Given the description of an element on the screen output the (x, y) to click on. 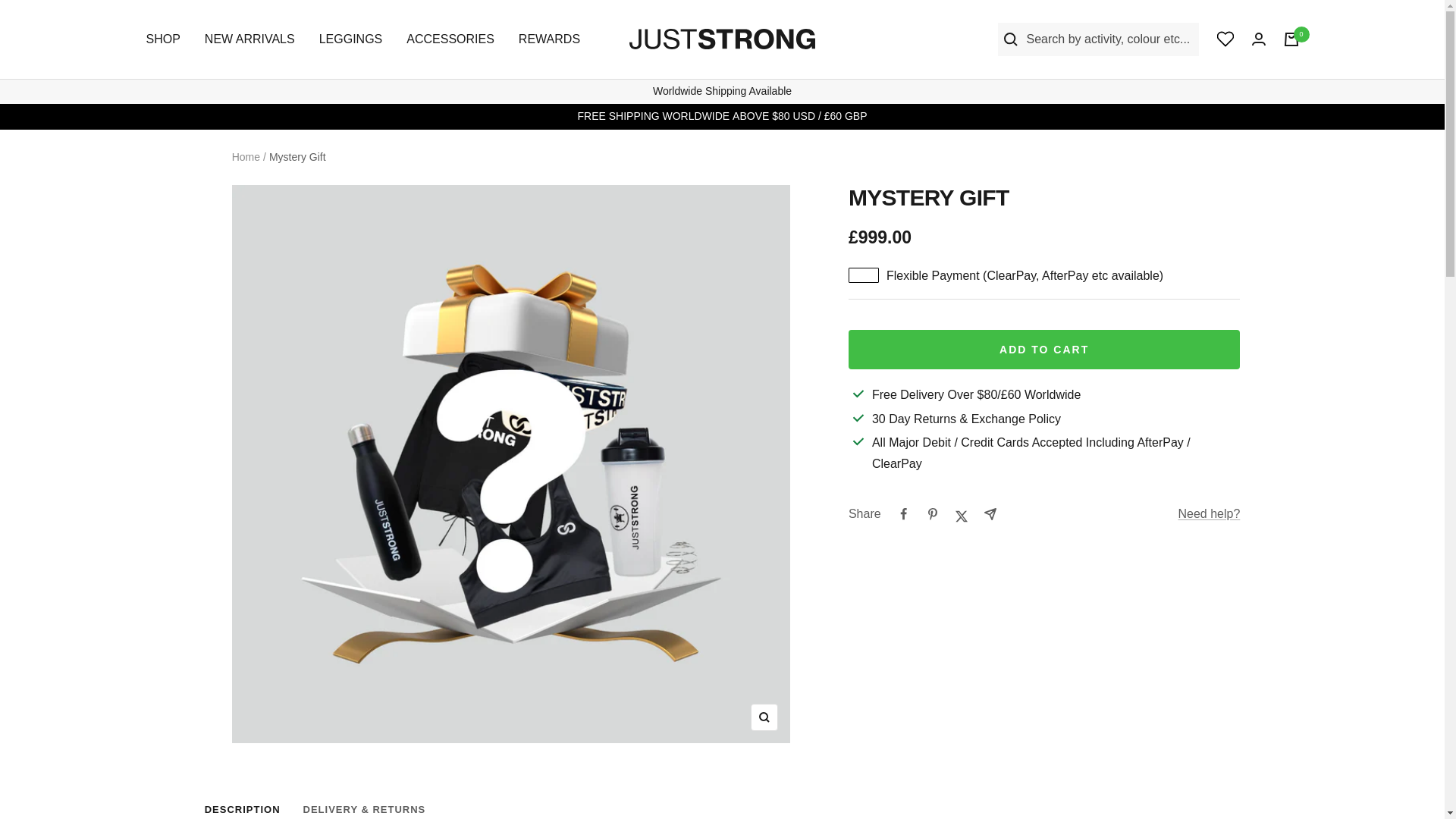
ADD TO CART (1044, 349)
Home (245, 156)
0 (1290, 38)
ACCESSORIES (450, 38)
Just Strong (721, 38)
NEW ARRIVALS (250, 38)
SHOP (162, 38)
REWARDS (548, 38)
Zoom (764, 717)
LEGGINGS (350, 38)
